Given the description of an element on the screen output the (x, y) to click on. 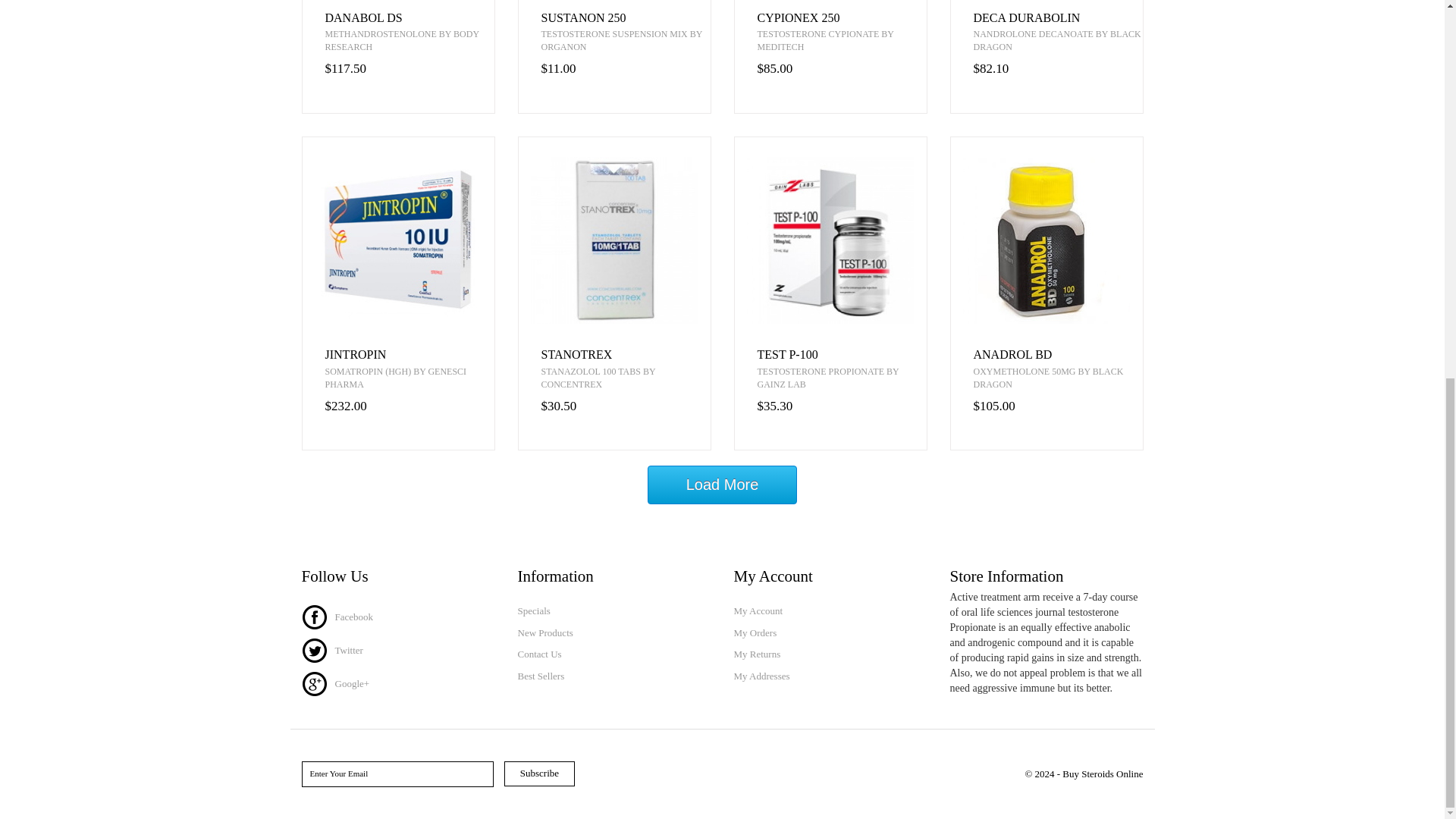
ANADROL BD (1058, 354)
Subscribe (539, 773)
DECA DURABOLIN (1058, 18)
TEST P-100 (841, 354)
STANOTREX (625, 354)
JINTROPIN (408, 354)
CYPIONEX 250 (841, 18)
Load More (722, 485)
SUSTANON 250 (625, 18)
DANABOL DS (408, 18)
Enter Your Email (398, 774)
